Given the description of an element on the screen output the (x, y) to click on. 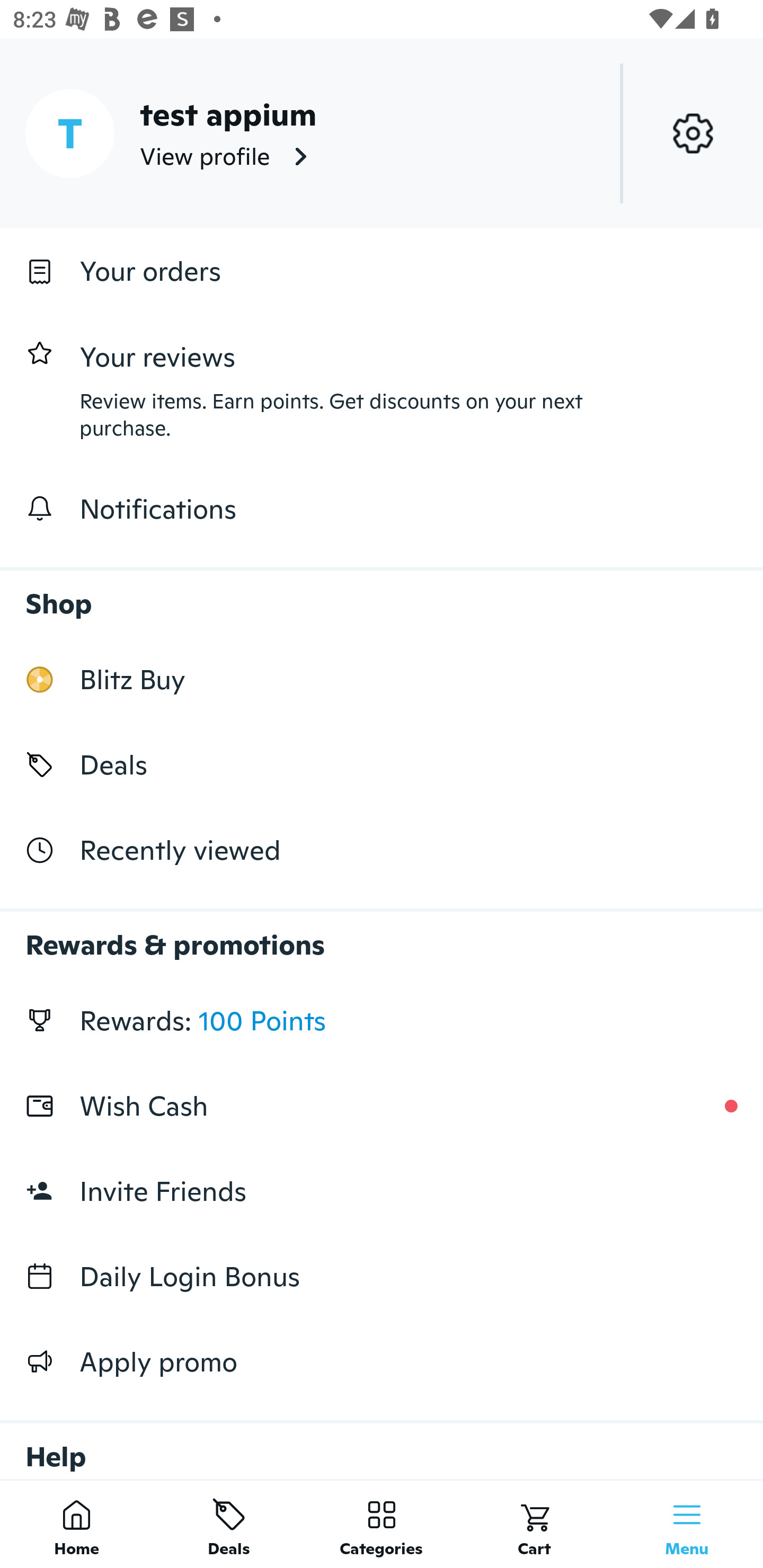
T test appium View profile (381, 132)
Your orders (381, 270)
Notifications (381, 508)
Shop (381, 593)
Blitz Buy (381, 679)
Deals (381, 764)
Recently viewed (381, 850)
Rewards & promotions (381, 935)
Rewards: 100 Points (381, 1020)
Wish Cash (381, 1106)
Invite Friends (381, 1190)
Daily Login Bonus (381, 1277)
Apply promo (381, 1361)
Help (381, 1441)
Home (76, 1523)
Deals (228, 1523)
Categories (381, 1523)
Cart (533, 1523)
Menu (686, 1523)
